Given the description of an element on the screen output the (x, y) to click on. 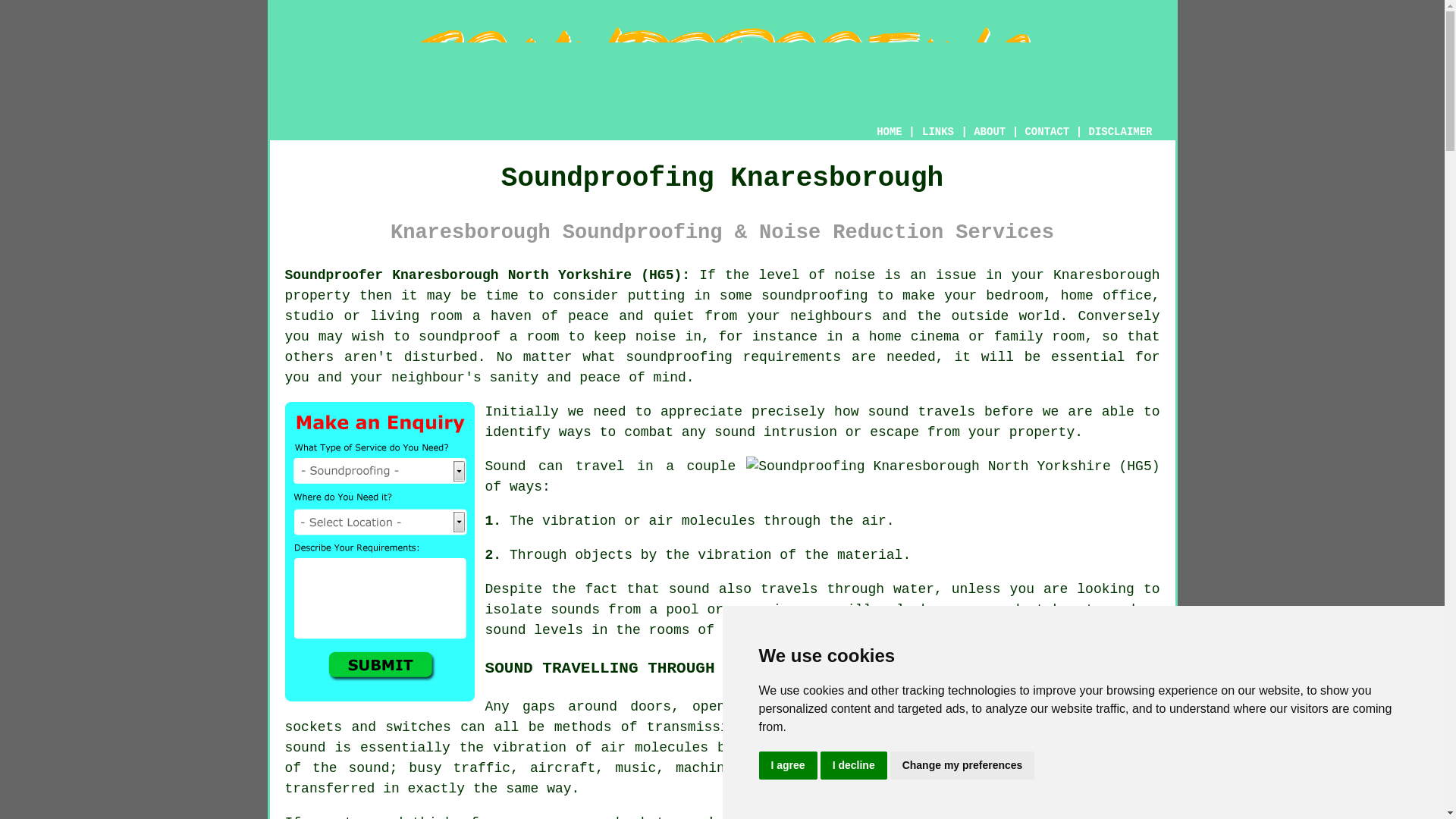
LINKS (938, 131)
Change my preferences (962, 765)
I decline (853, 765)
HOME (889, 132)
I agree (787, 765)
Soundproofing Knaresborough (721, 67)
